Given the description of an element on the screen output the (x, y) to click on. 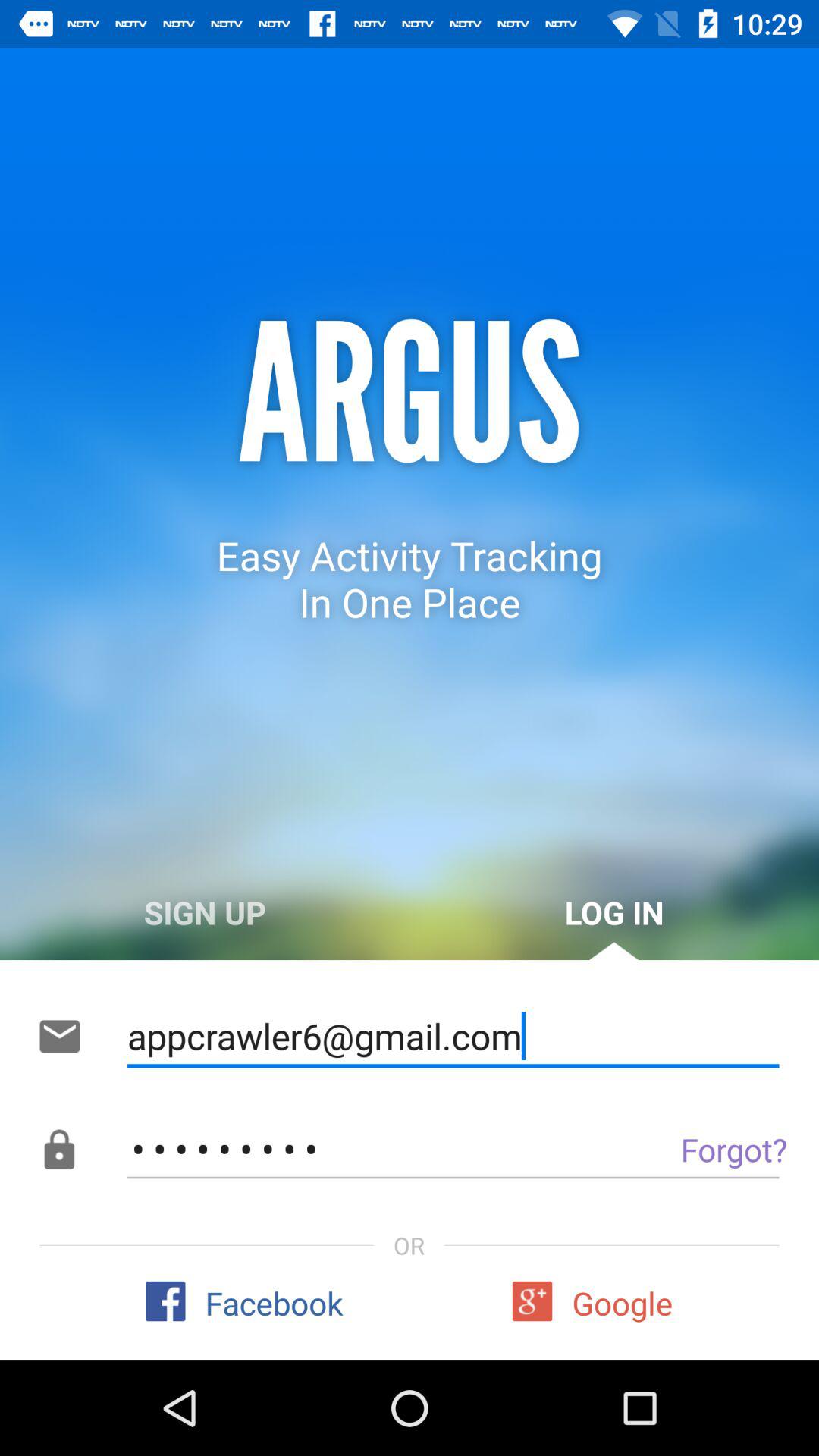
choose forgot? icon (699, 1149)
